Given the description of an element on the screen output the (x, y) to click on. 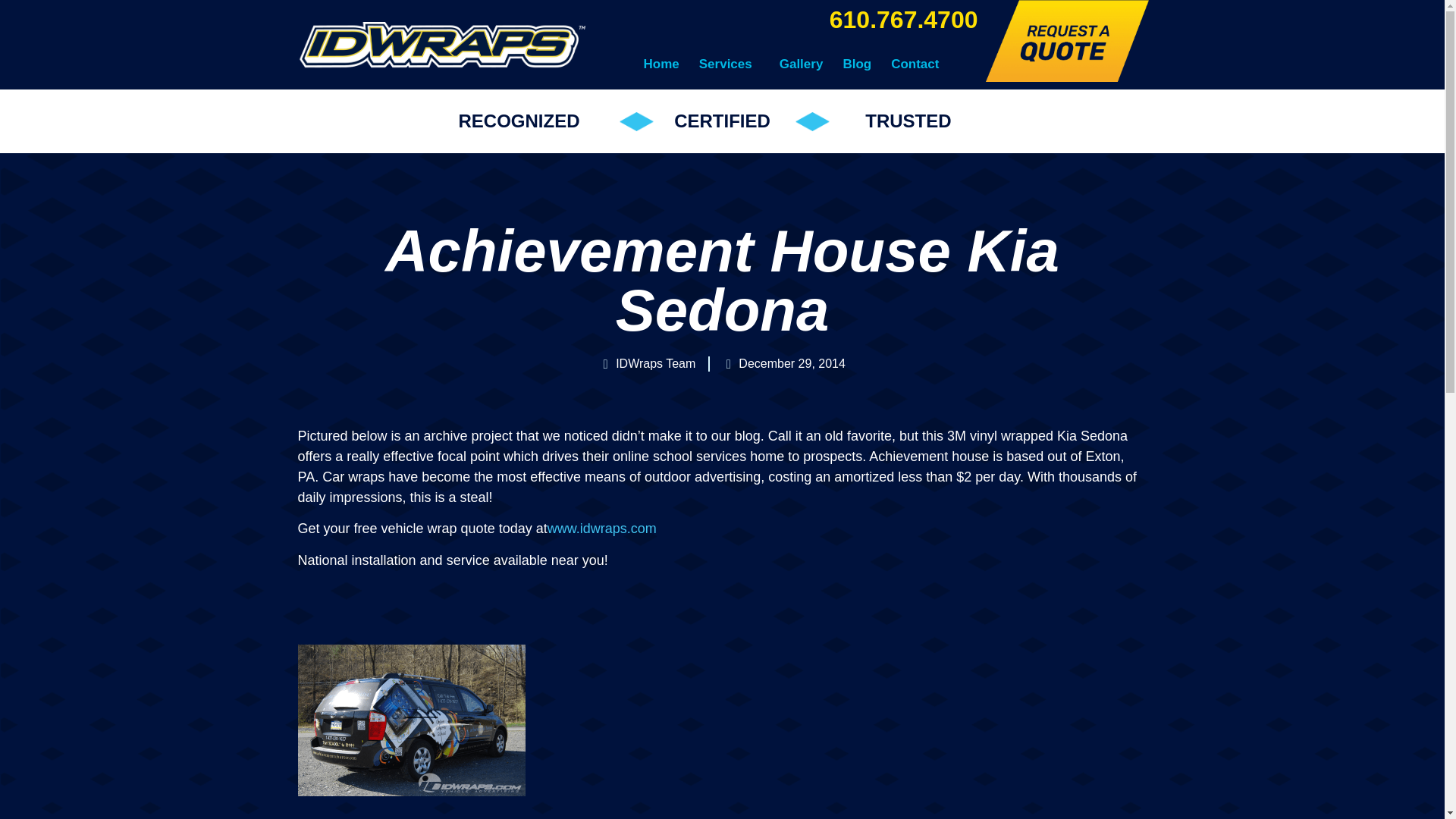
Blog (856, 63)
Services (729, 63)
Contact (914, 63)
diamond blue (811, 121)
Gallery (801, 63)
Achievement-House-Sedona (410, 720)
diamond blue (636, 121)
Home (660, 63)
610.767.4700 (903, 19)
